Given the description of an element on the screen output the (x, y) to click on. 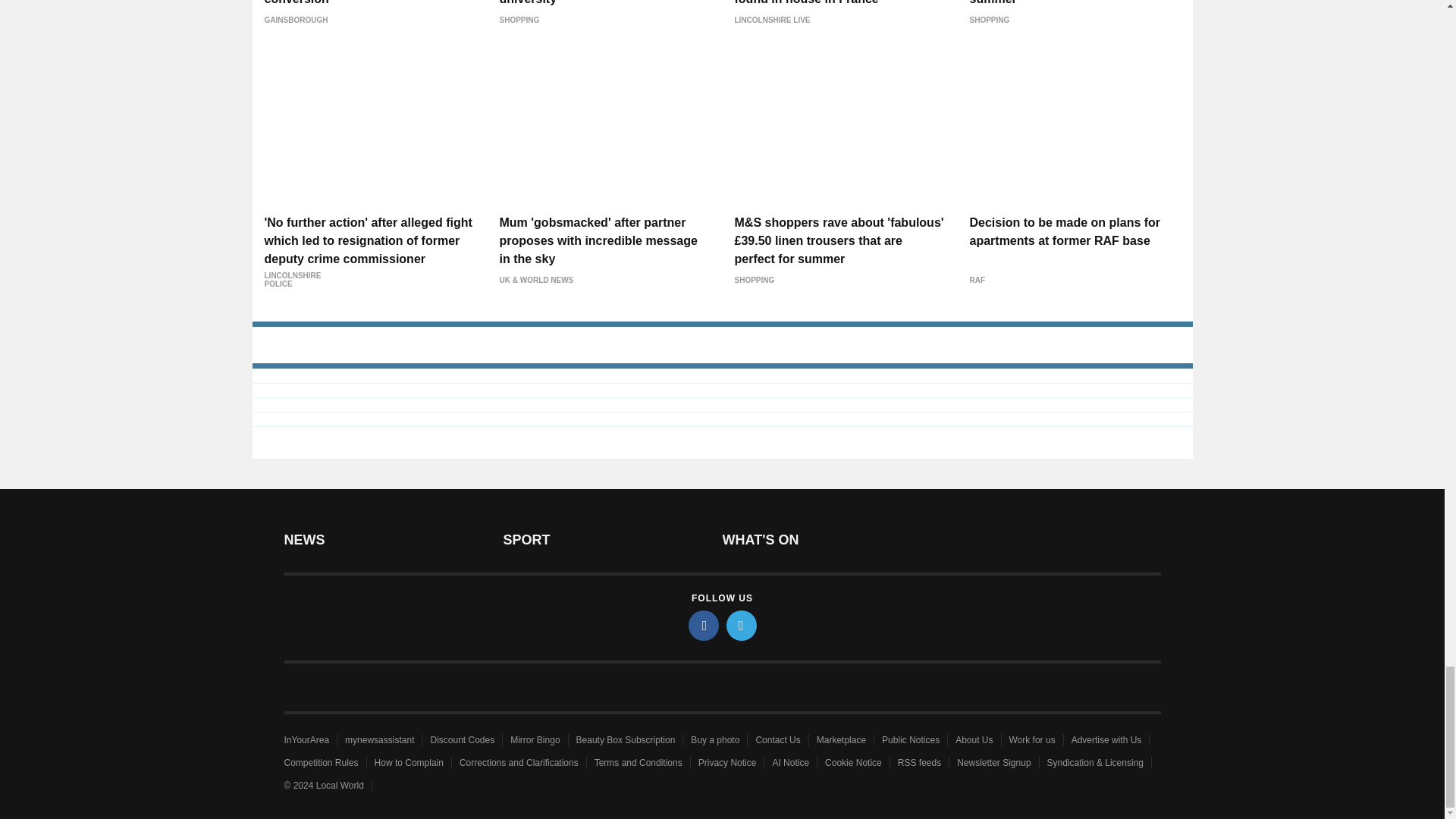
twitter (741, 625)
facebook (703, 625)
